Given the description of an element on the screen output the (x, y) to click on. 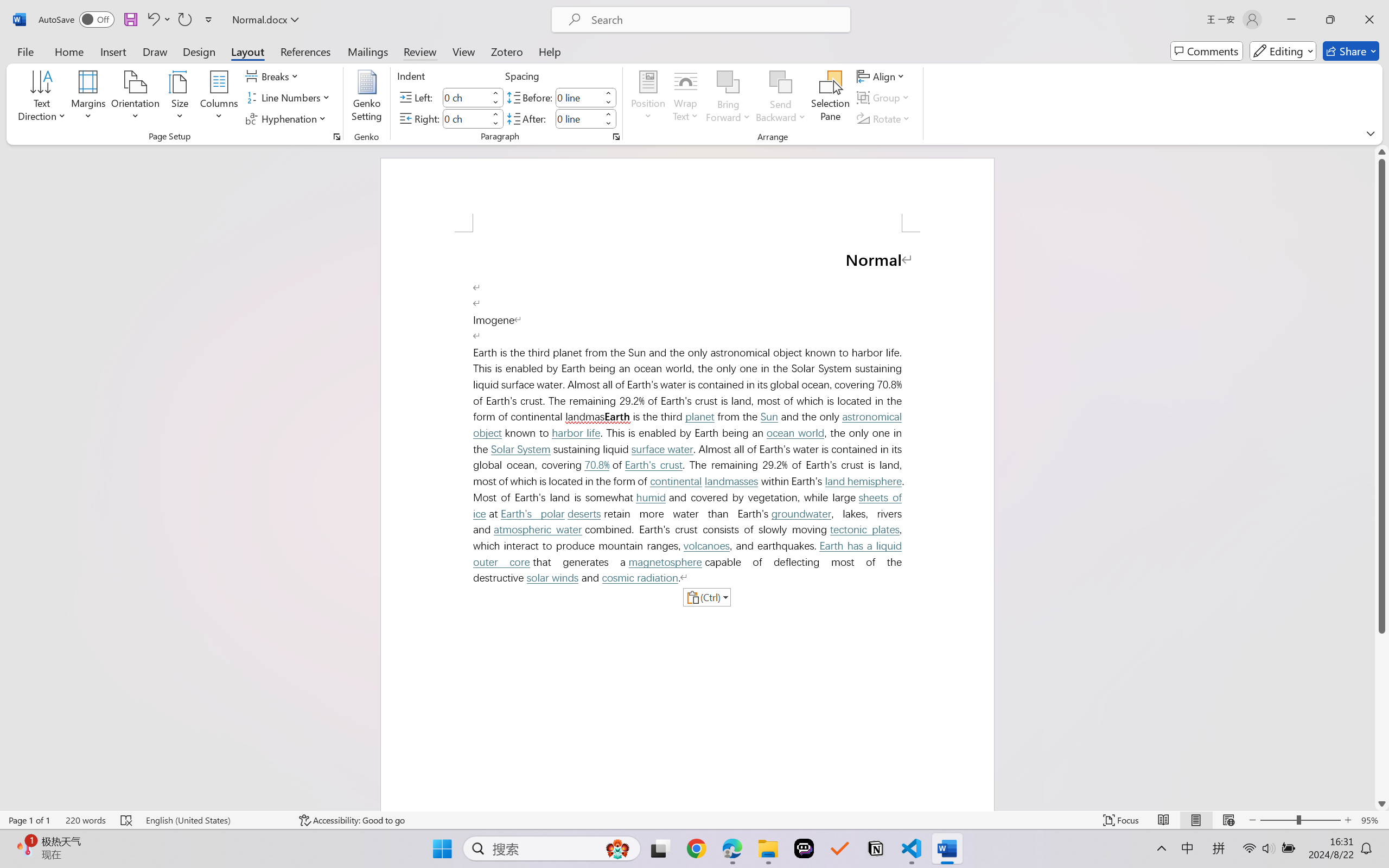
Earth's polar (533, 513)
Earth has a liquid outer core (690, 554)
Help (549, 51)
magnetosphere (665, 561)
Solar System (520, 448)
deserts (584, 513)
Sun (769, 416)
Hyphenation (287, 118)
Paragraph... (615, 136)
